Given the description of an element on the screen output the (x, y) to click on. 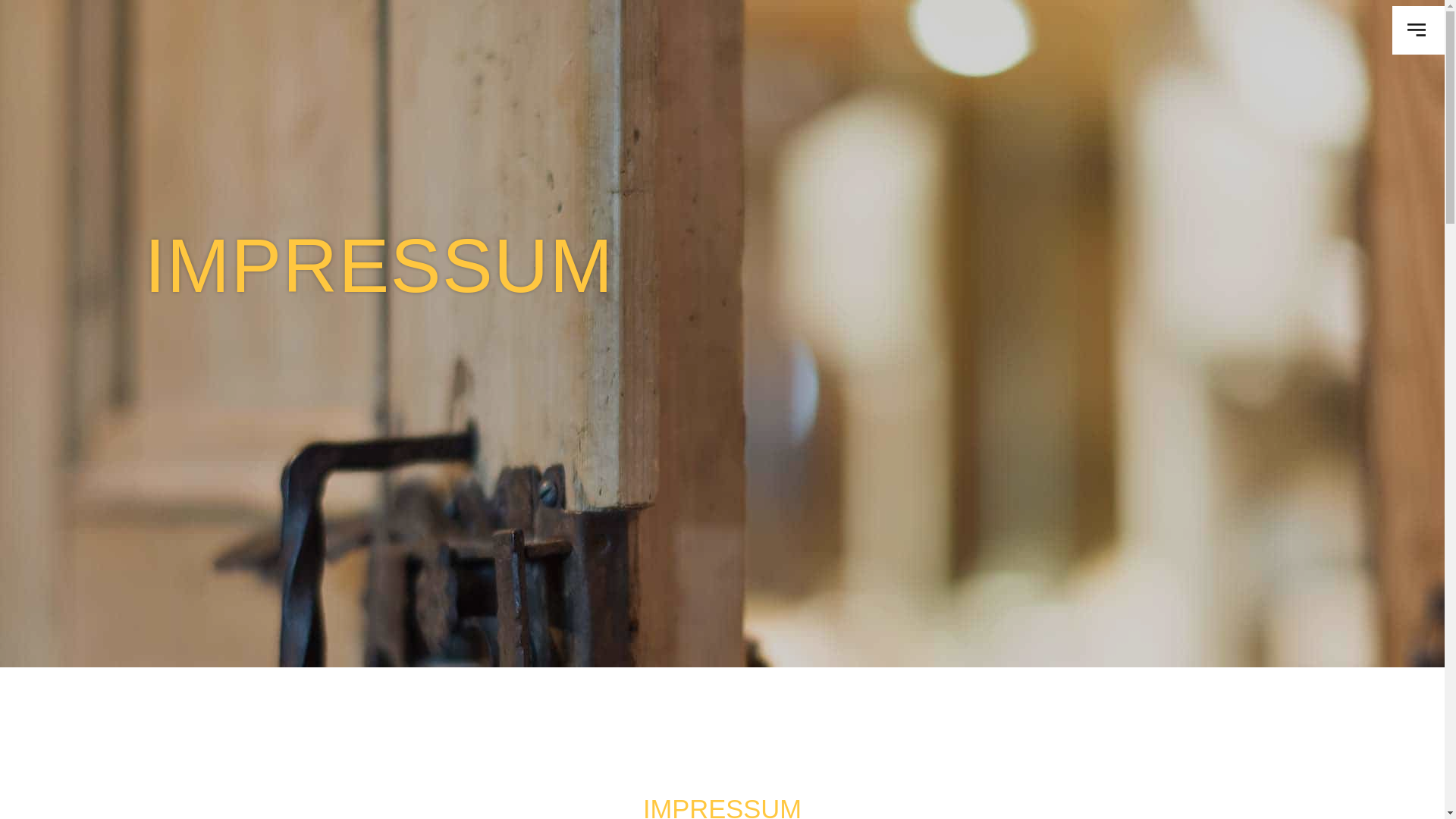
Menu Element type: text (1418, 30)
